Given the description of an element on the screen output the (x, y) to click on. 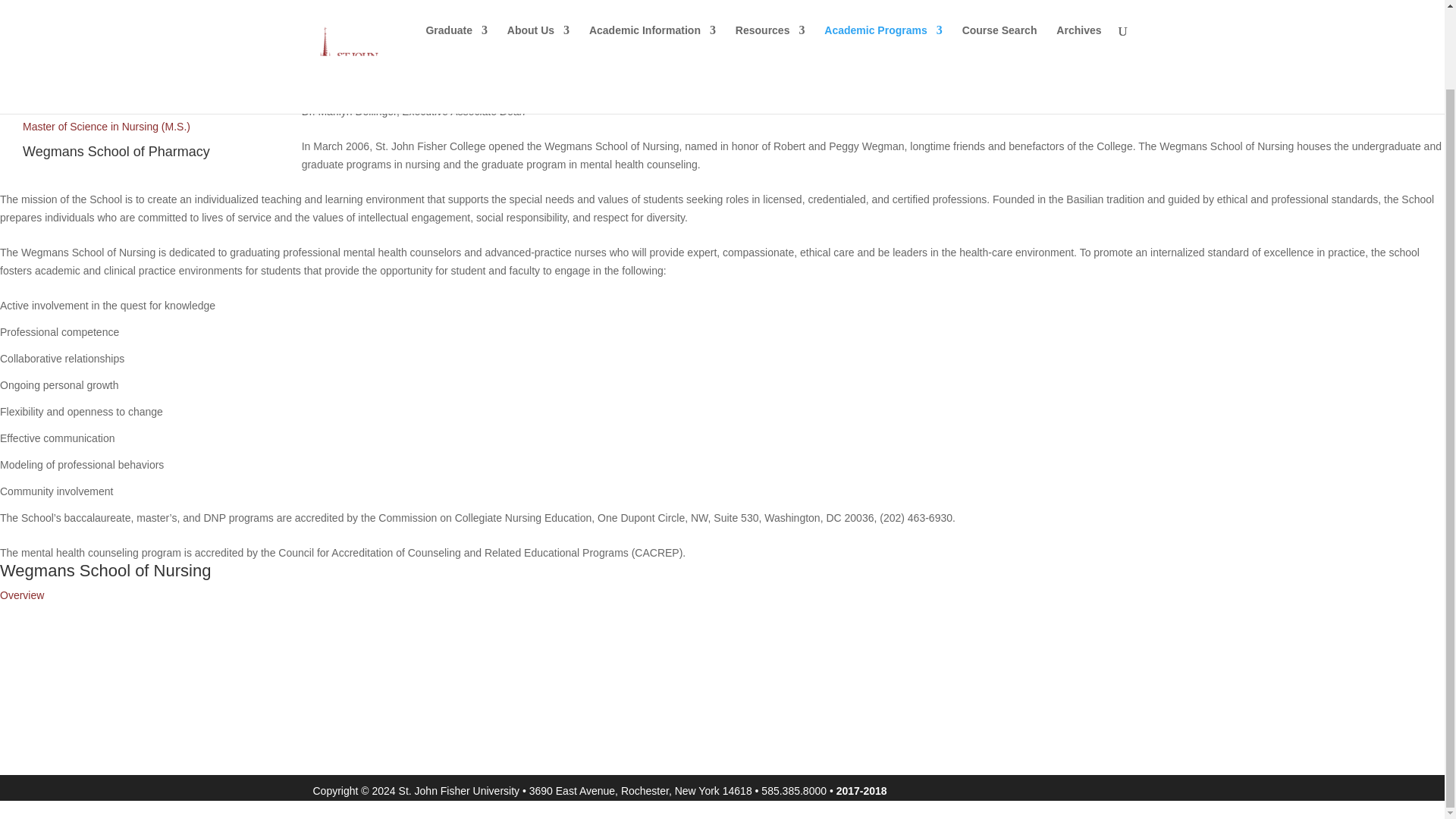
Wegmans School of Nursing (109, 48)
School of Business (80, 7)
School of Education (83, 28)
